Given the description of an element on the screen output the (x, y) to click on. 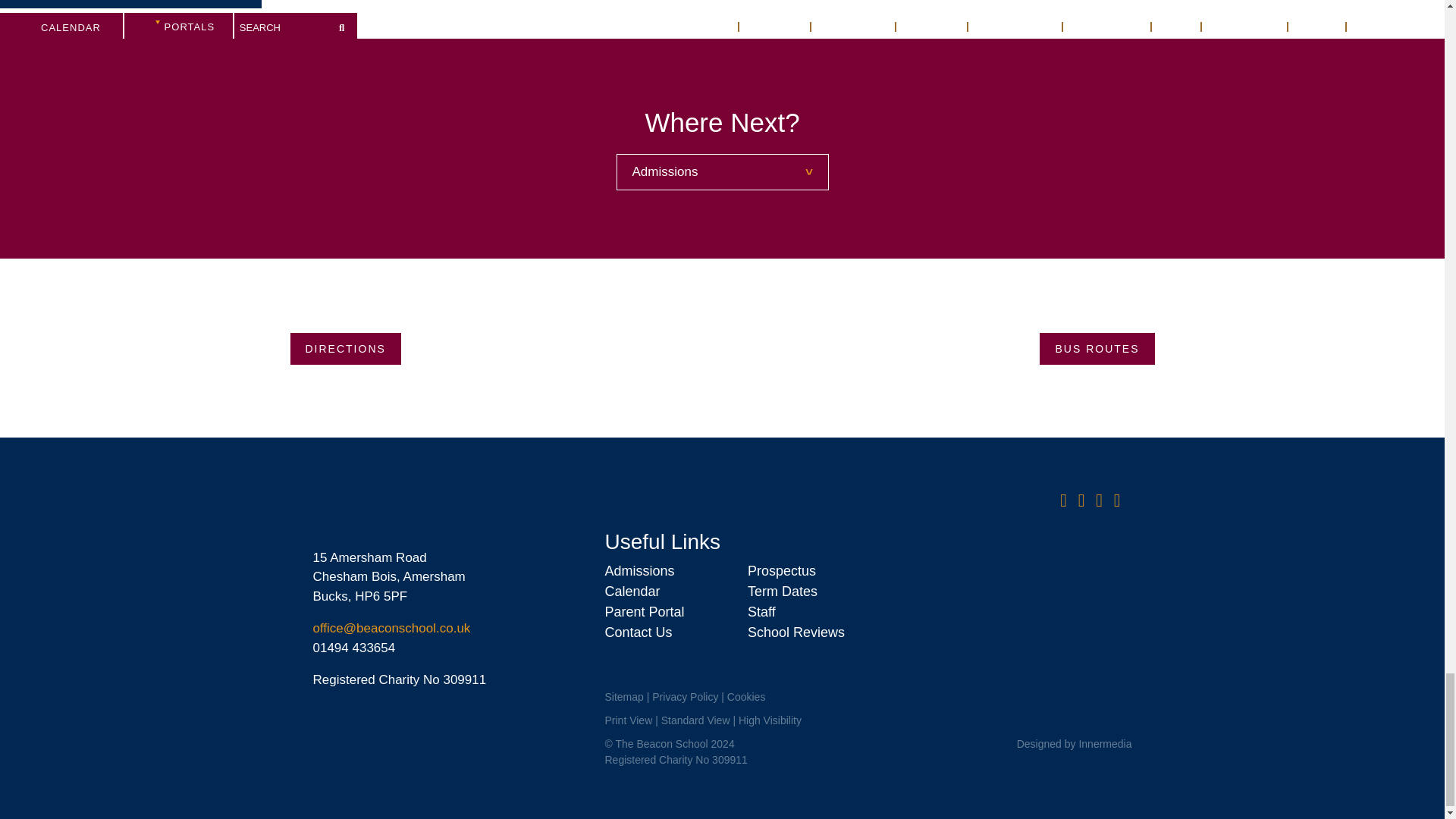
Switch to Standard Visibility (695, 720)
Switch to High Visibility (770, 720)
Switch to Print (628, 720)
